Given the description of an element on the screen output the (x, y) to click on. 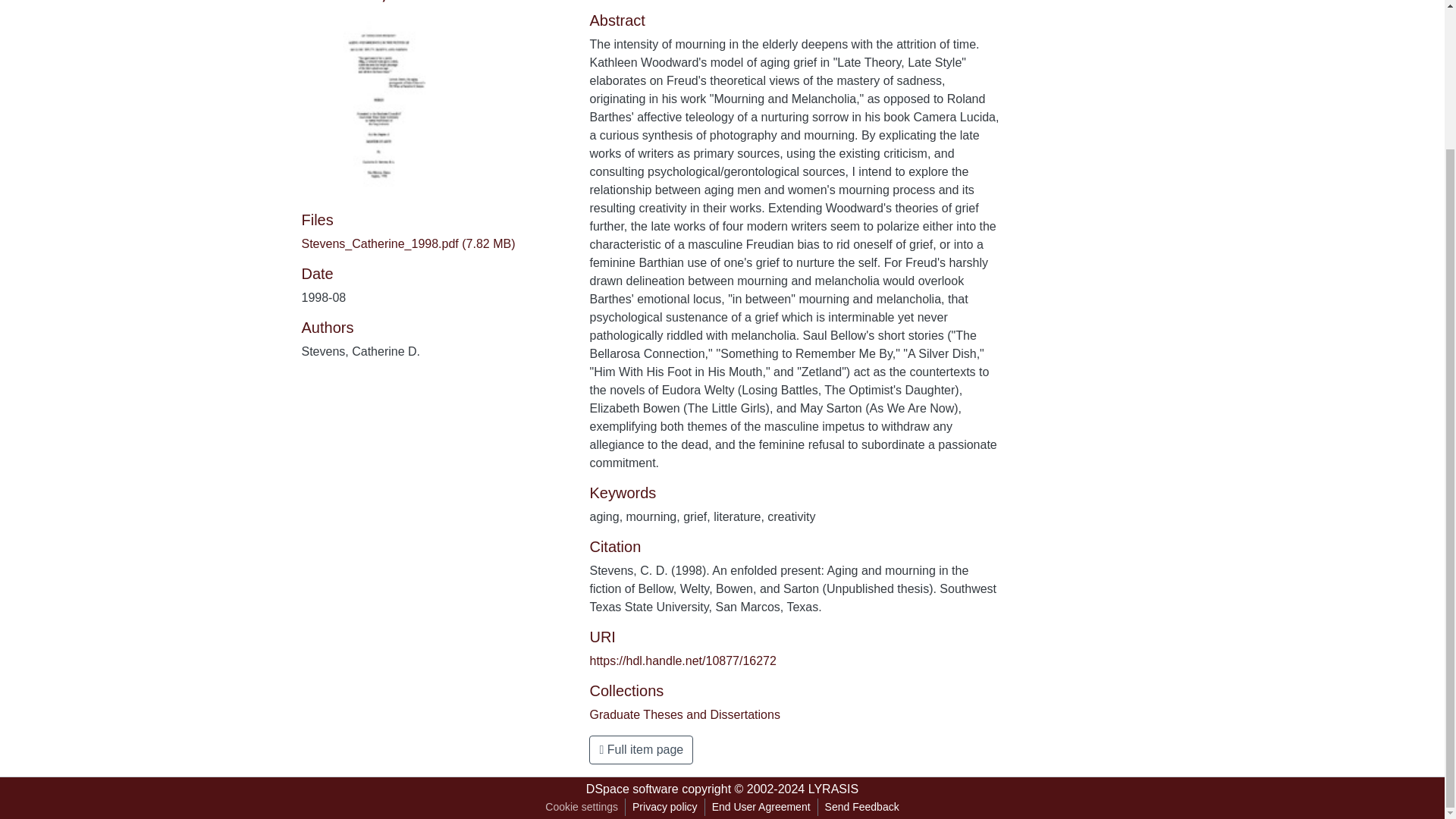
DSpace software (632, 788)
Privacy policy (665, 806)
Full item page (641, 749)
Cookie settings (581, 806)
Graduate Theses and Dissertations (683, 714)
Send Feedback (861, 806)
End User Agreement (760, 806)
LYRASIS (833, 788)
